Given the description of an element on the screen output the (x, y) to click on. 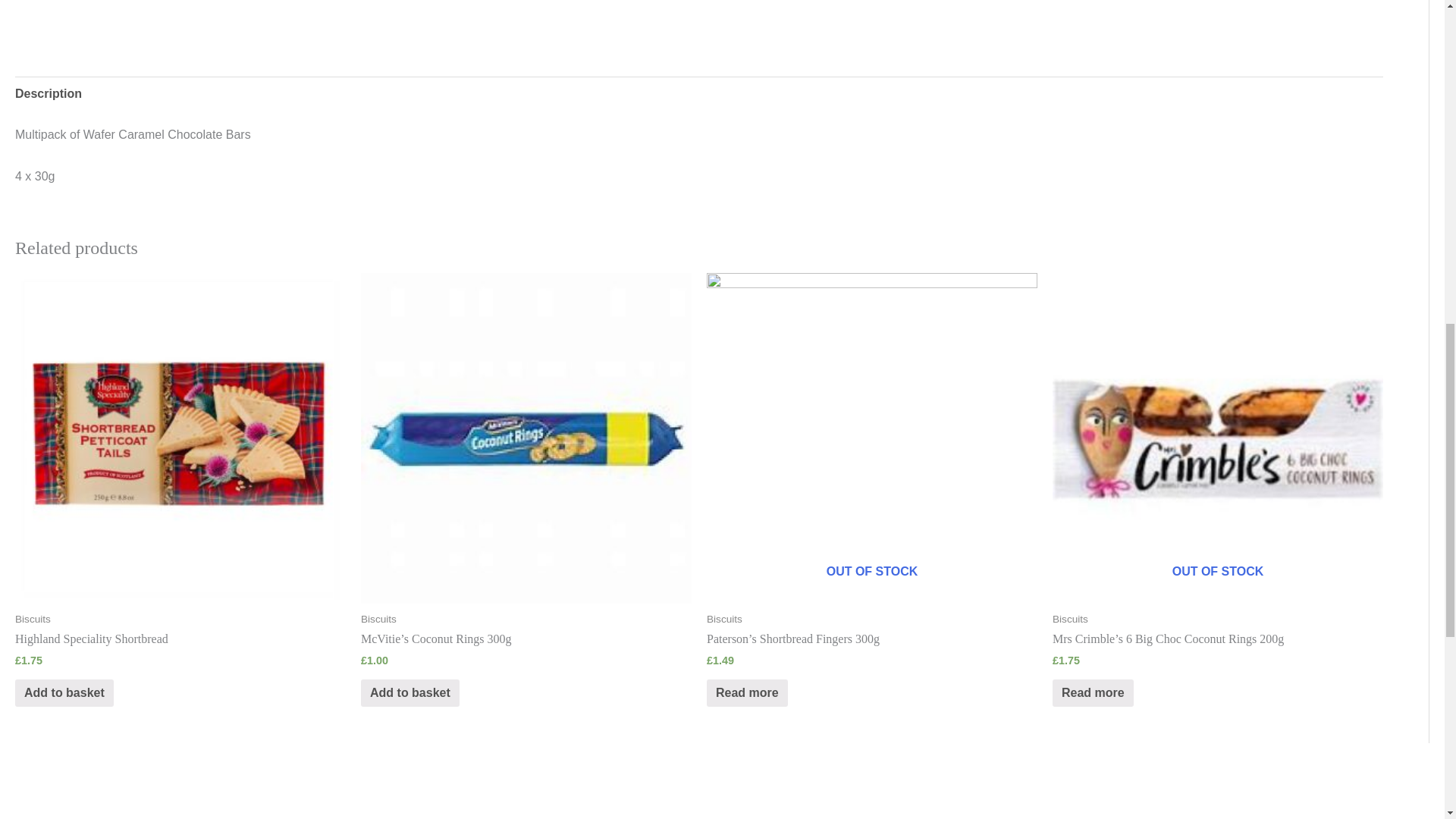
Add to basket (63, 693)
Description (47, 93)
Add to basket (410, 693)
OUT OF STOCK (871, 437)
Highland Speciality Shortbread (180, 639)
